Given the description of an element on the screen output the (x, y) to click on. 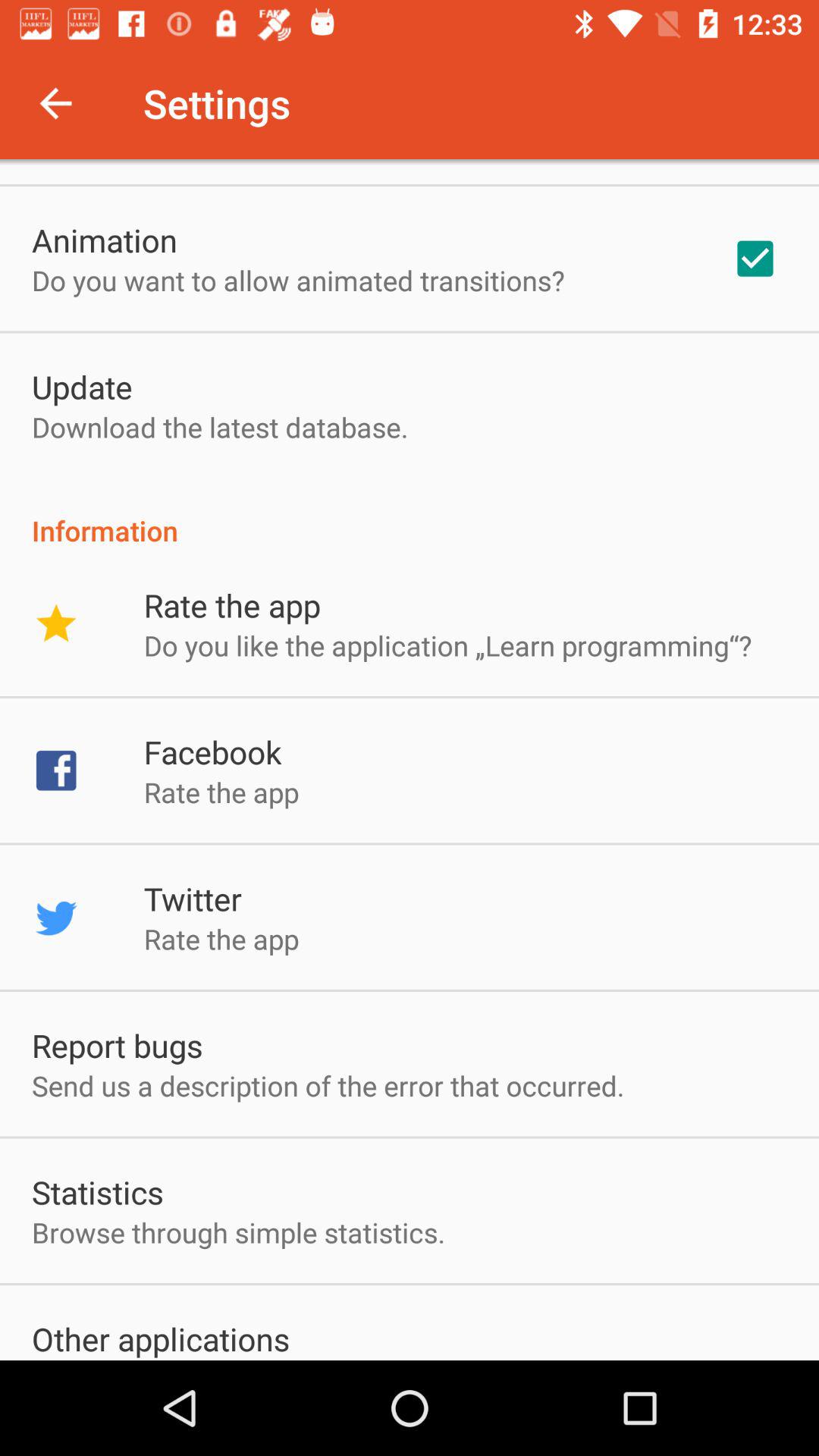
turn on item above the statistics app (327, 1085)
